Given the description of an element on the screen output the (x, y) to click on. 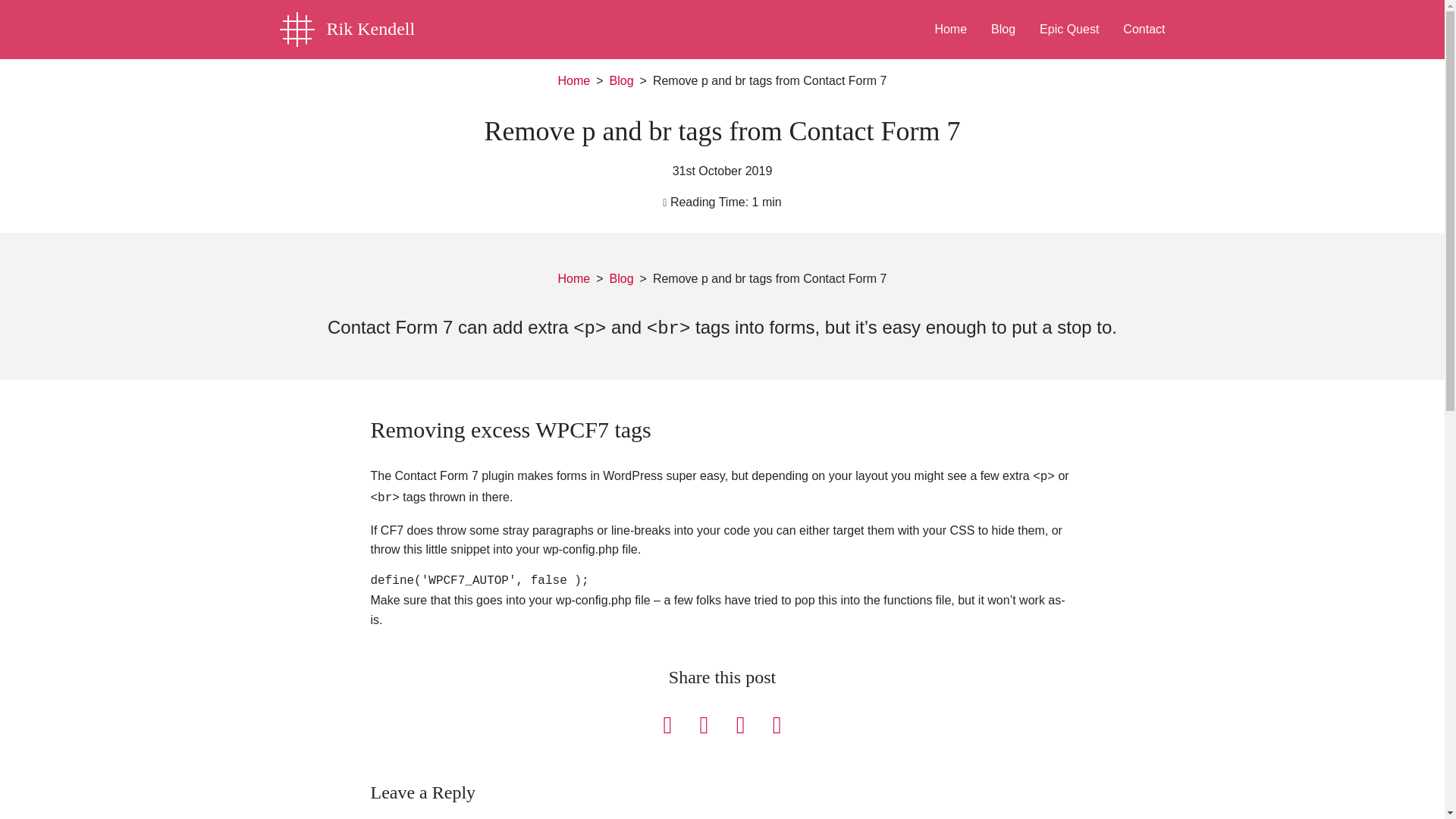
Remove p and br tags from Contact Form 7 (769, 278)
Home (574, 279)
Blog (621, 279)
Epic Quest (1068, 26)
Home (574, 279)
Contact (1143, 26)
Remove p and br tags from Contact Form 7 (769, 80)
Blog (621, 80)
Home (949, 26)
Home (574, 80)
Blog (1002, 26)
Home (574, 80)
